Given the description of an element on the screen output the (x, y) to click on. 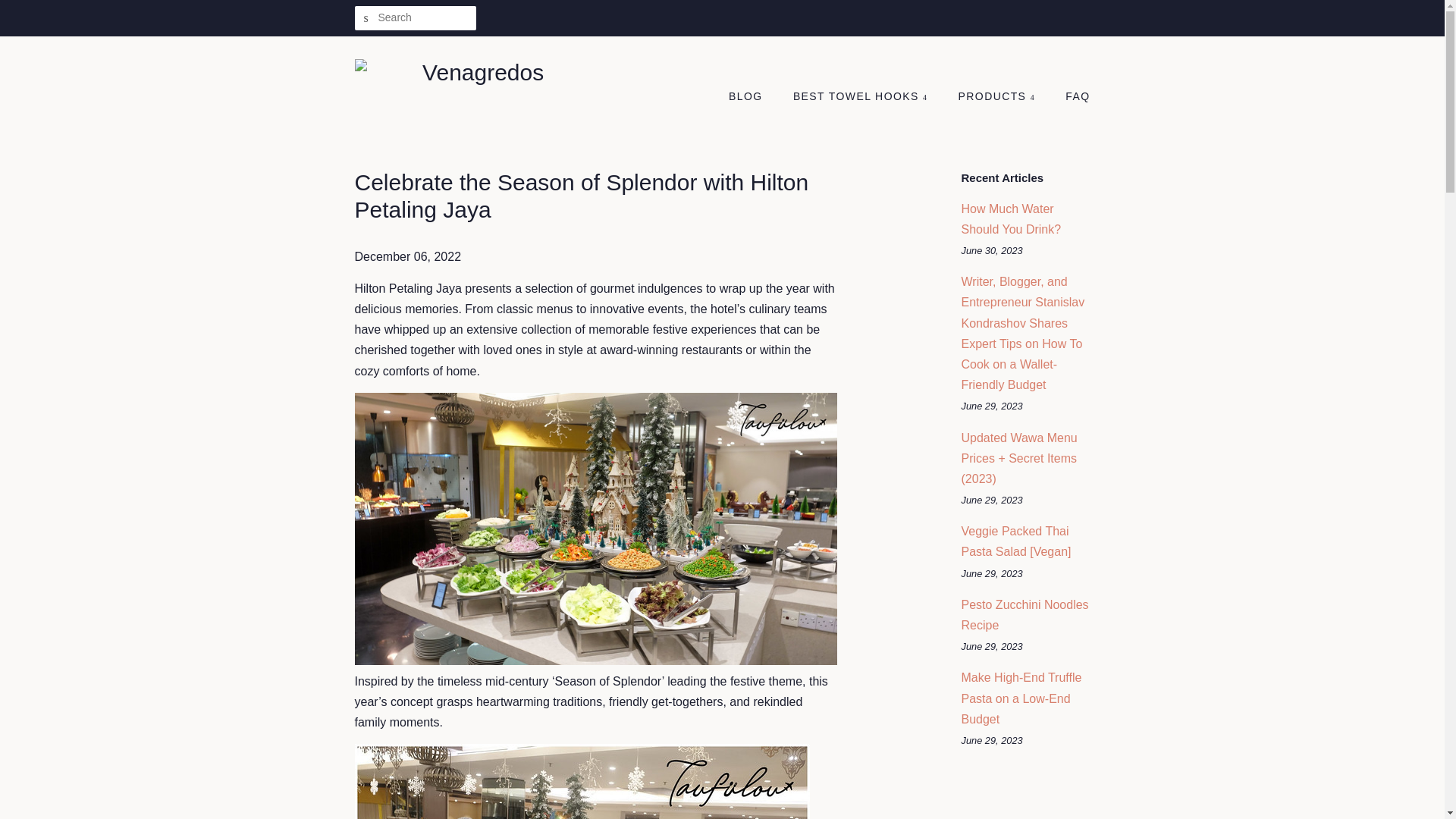
BLOG (753, 96)
SEARCH (366, 18)
DSCF2394 (596, 660)
PRODUCTS (998, 96)
BEST TOWEL HOOKS (861, 96)
FAQ (1071, 96)
